Given the description of an element on the screen output the (x, y) to click on. 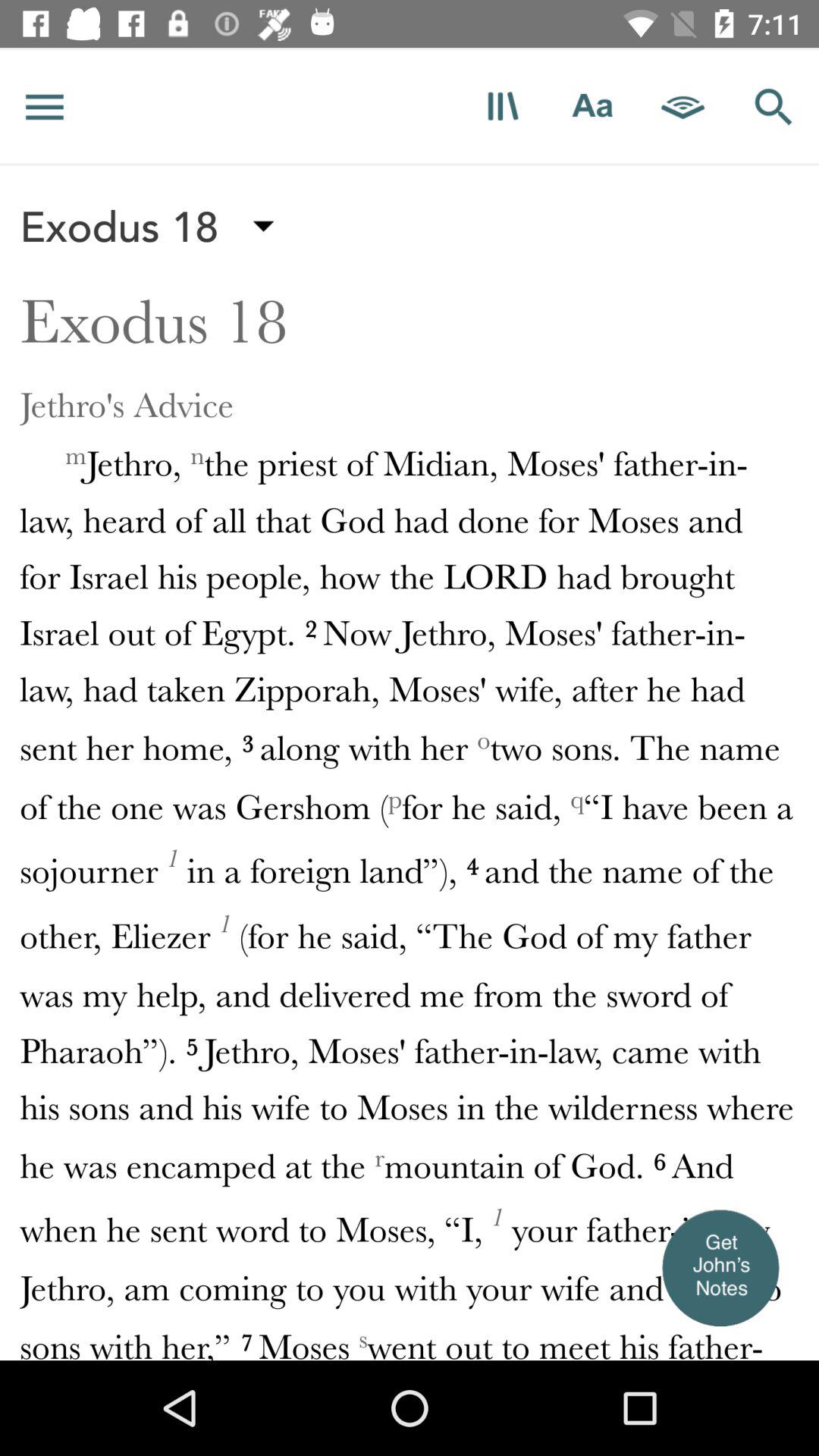
change text size (592, 106)
